Given the description of an element on the screen output the (x, y) to click on. 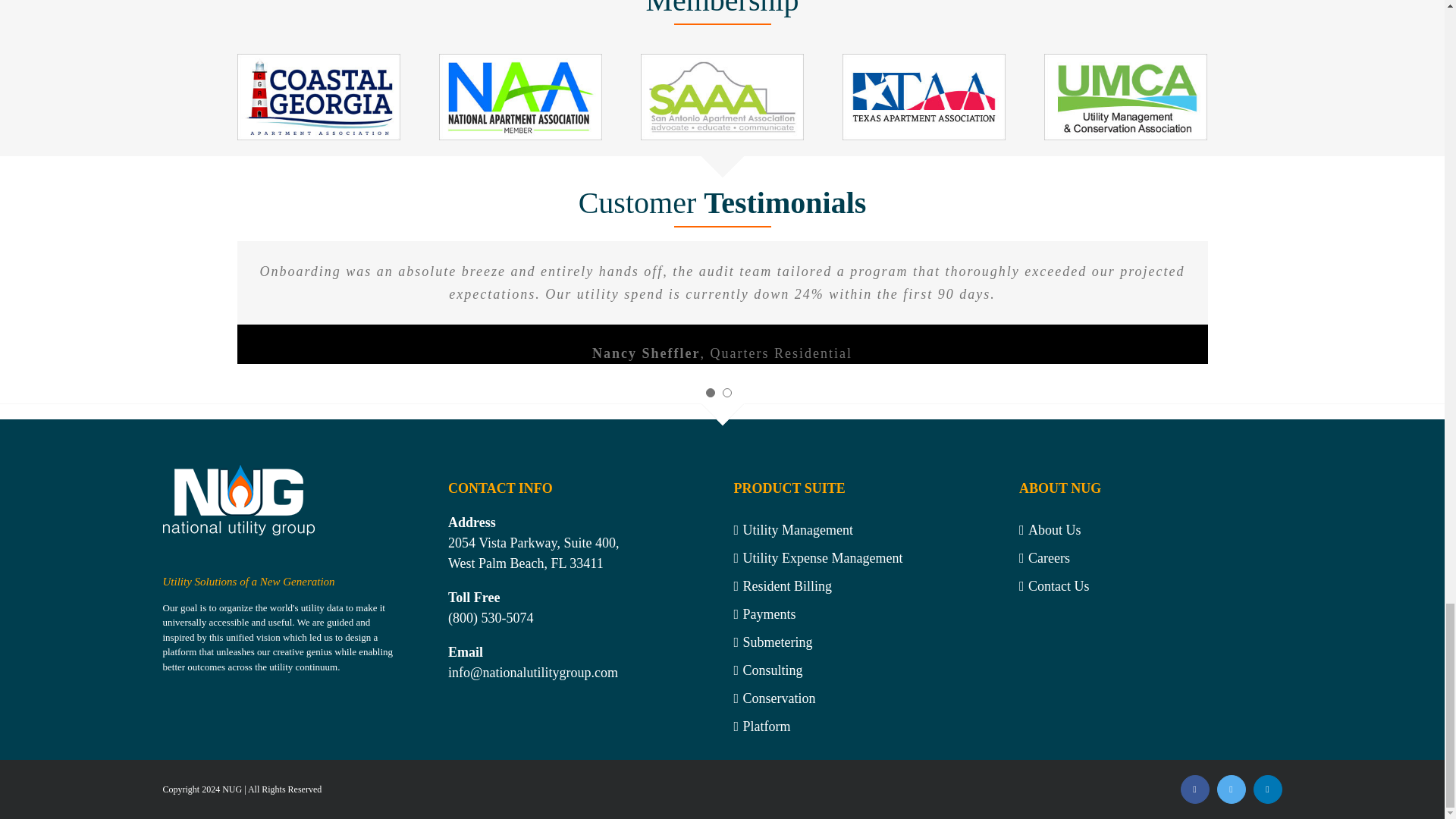
umca-logo-opt (1125, 97)
naa-logo-opt (520, 97)
taa-logo-opt (924, 97)
cgaa-logo-opt (316, 97)
saaa-logo-opt (721, 97)
